Given the description of an element on the screen output the (x, y) to click on. 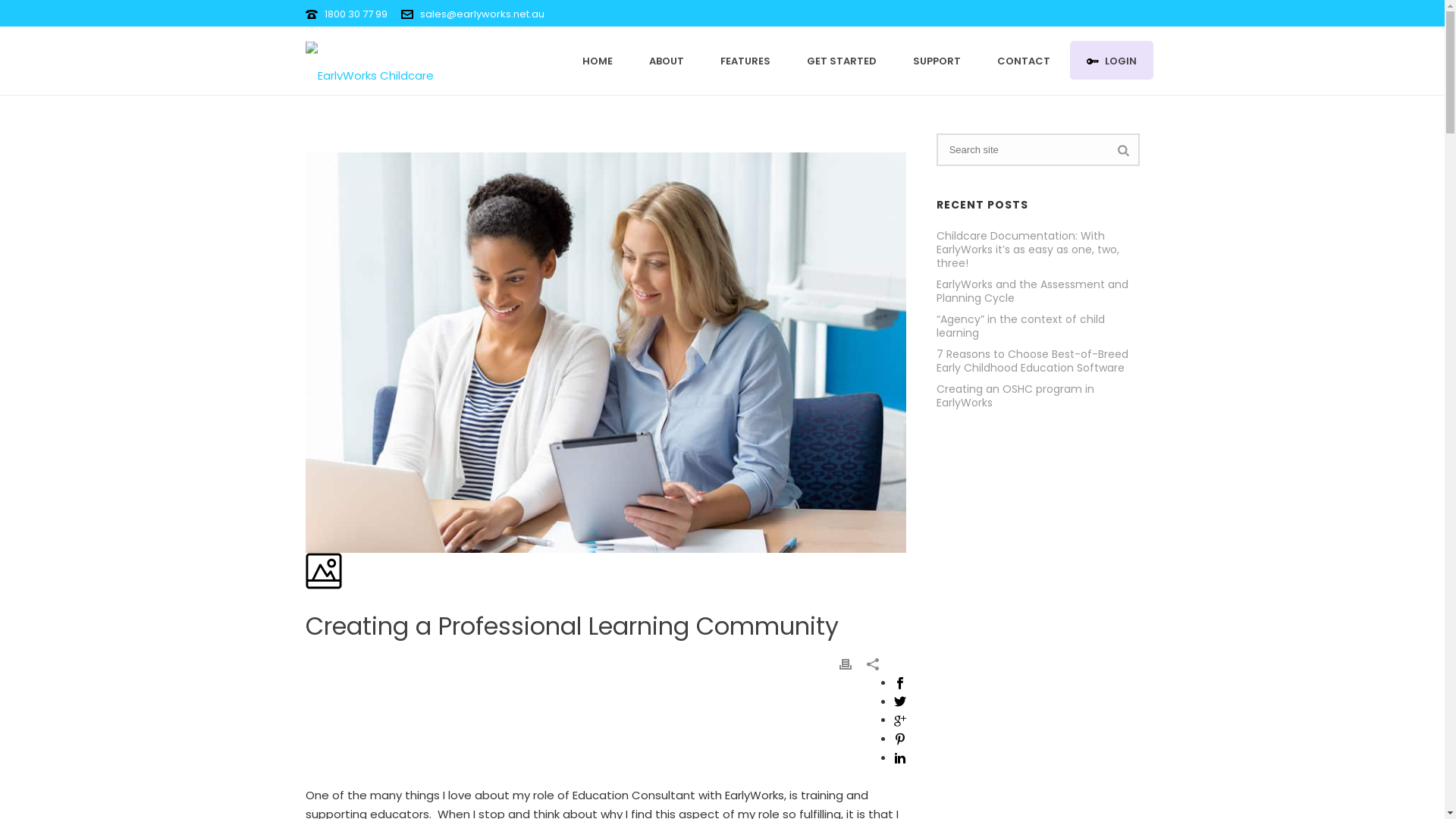
  Element type: text (305, 142)
Creating an OSHC program in EarlyWorks Element type: text (1037, 395)
Print Element type: hover (845, 663)
SUPPORT Element type: text (936, 59)
HOME Element type: text (597, 59)
EarlyWorks and the Assessment and Planning Cycle Element type: text (1037, 290)
1800 30 77 99 Element type: text (355, 13)
LOGIN Element type: text (1110, 59)
Creating a Professional Learning Community Element type: hover (305, 142)
ABOUT Element type: text (666, 59)
CONTACT Element type: text (1022, 59)
GET STARTED Element type: text (841, 59)
FEATURES Element type: text (745, 59)
EarlyWorks Childcare Documentation and Programming Software Element type: hover (399, 59)
sales@earlyworks.net.au Element type: text (482, 13)
Creating a Professional Learning Community Element type: hover (604, 352)
